Given the description of an element on the screen output the (x, y) to click on. 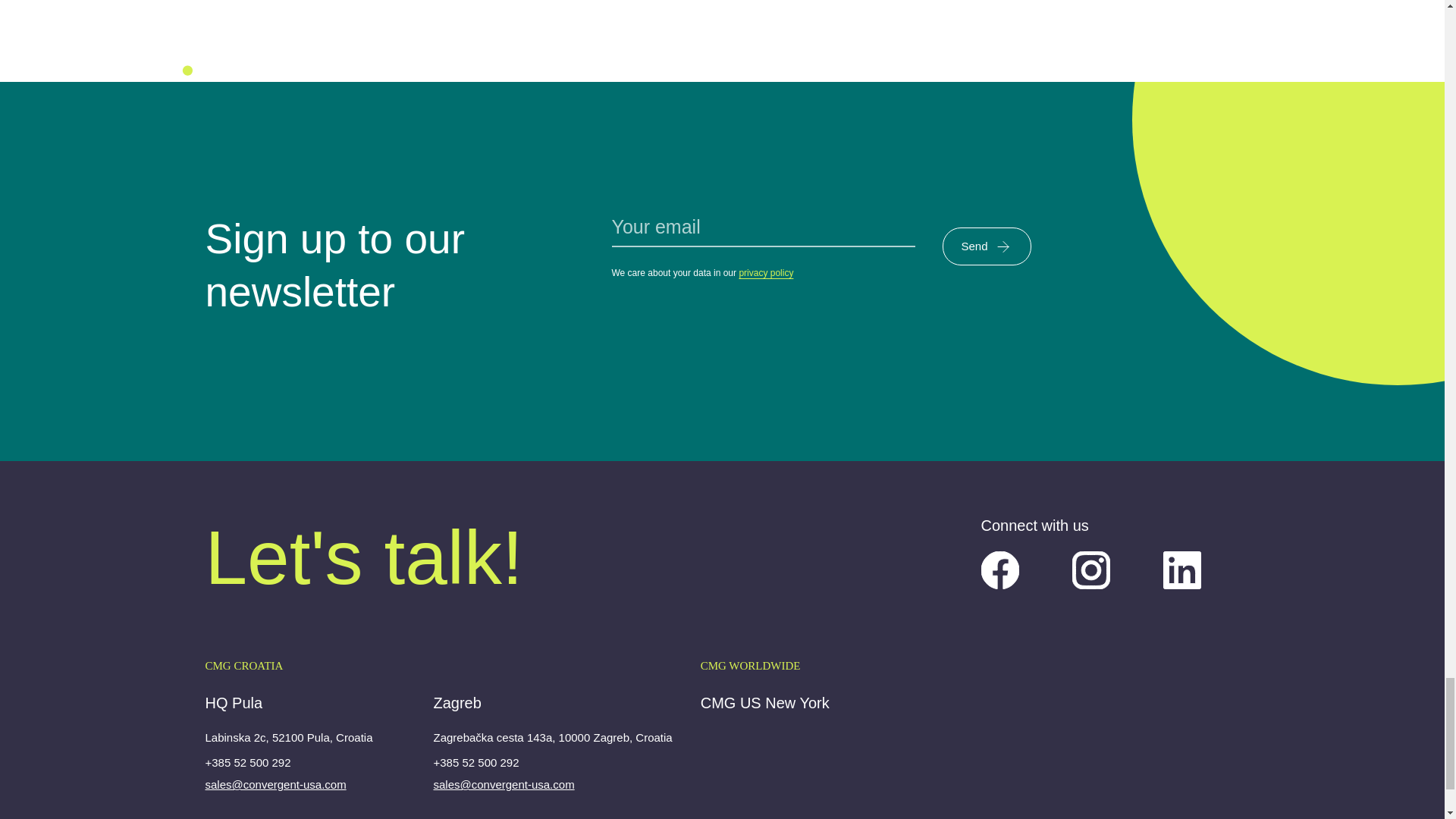
Send (986, 246)
LinkedIn (1182, 569)
privacy policy (765, 272)
Labinska 2c, 52100 Pula, Croatia (288, 740)
Facebook (1000, 569)
Instagram (1090, 569)
